Given the description of an element on the screen output the (x, y) to click on. 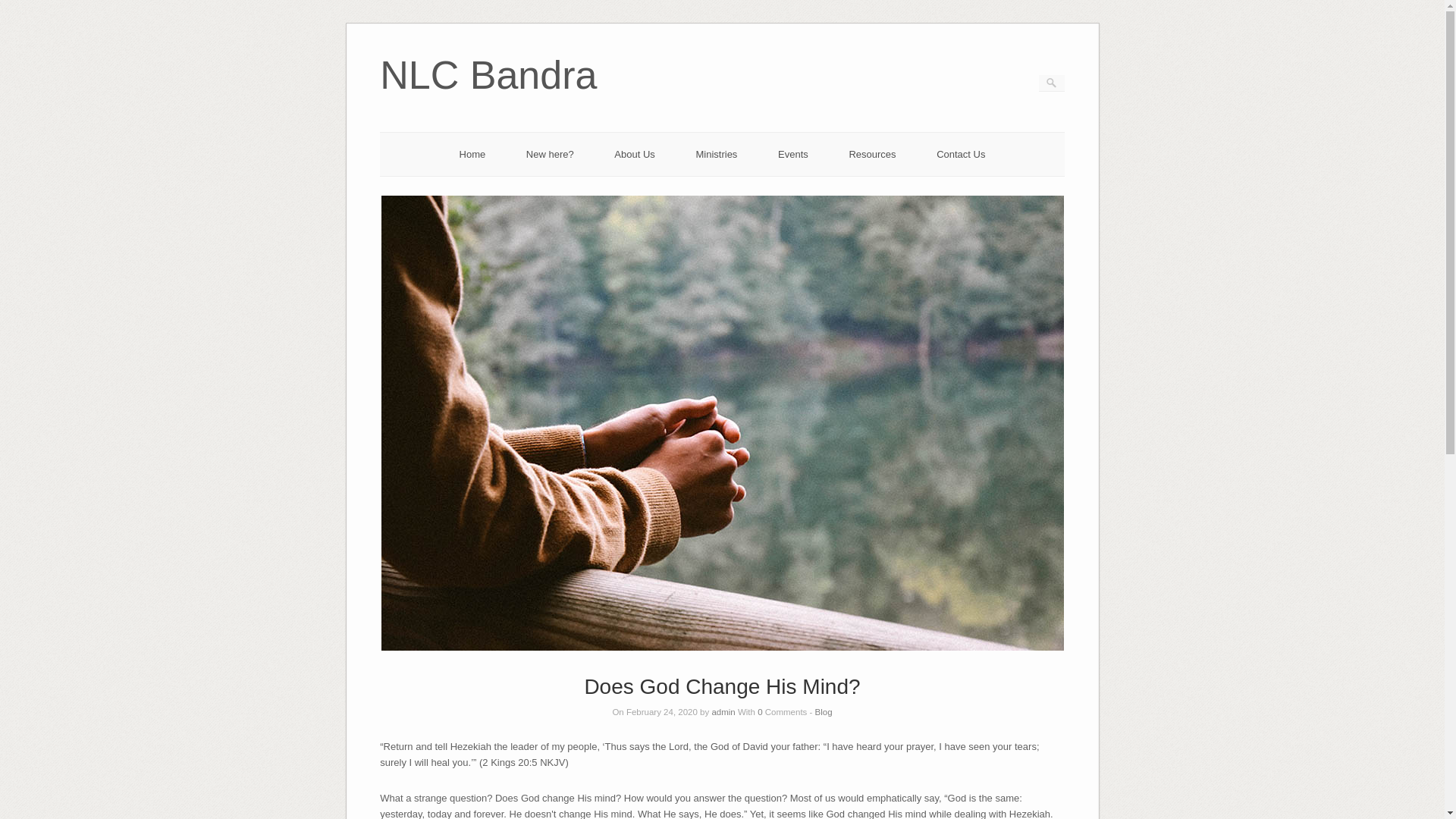
New here? (549, 153)
admin (723, 711)
Resources (871, 153)
About Us (633, 153)
Home (473, 153)
Search (21, 7)
Contact Us (960, 153)
Blog (823, 711)
Events (792, 153)
NLC Bandra (488, 96)
